Given the description of an element on the screen output the (x, y) to click on. 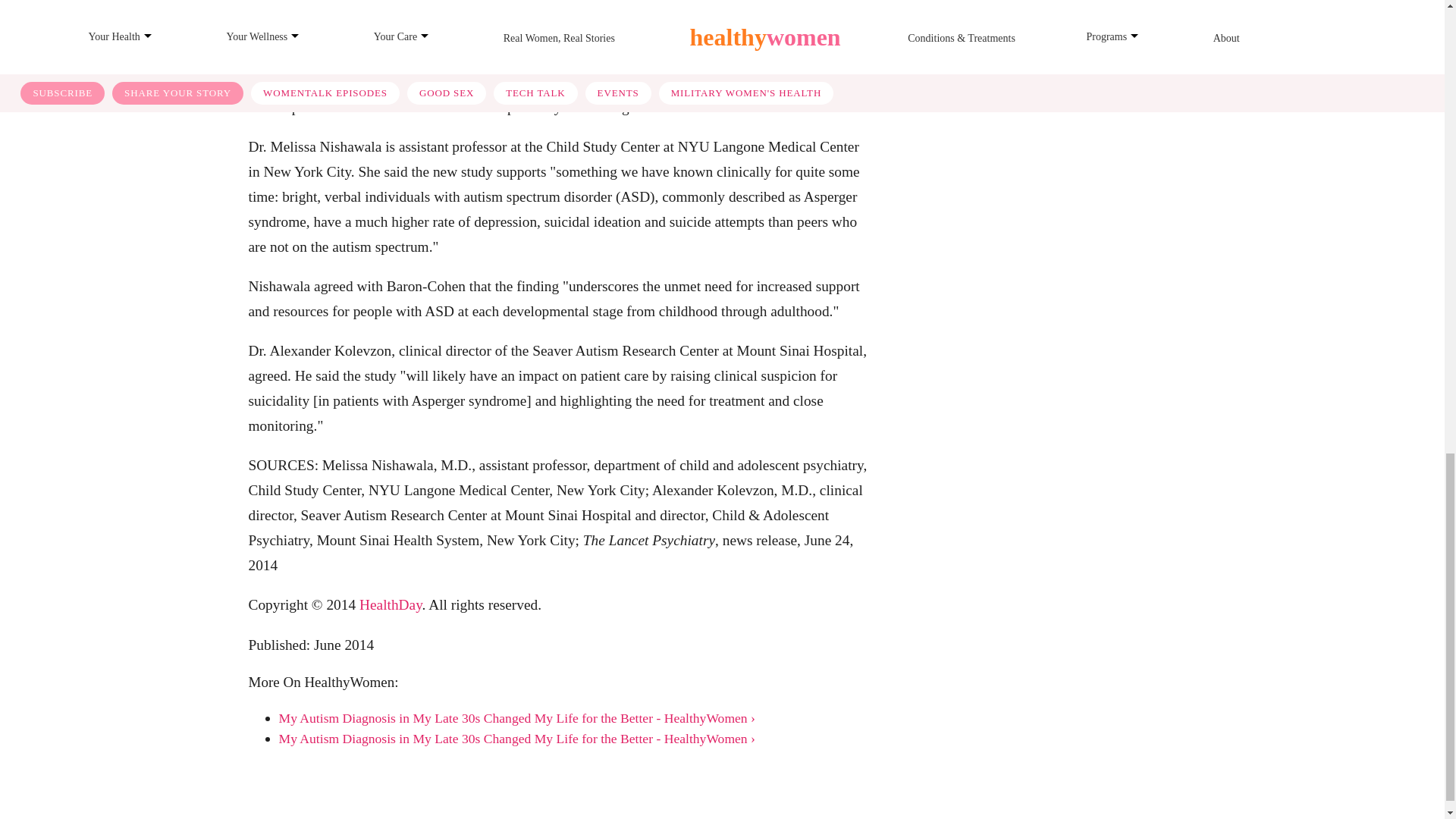
HealthDay News (390, 604)
